Given the description of an element on the screen output the (x, y) to click on. 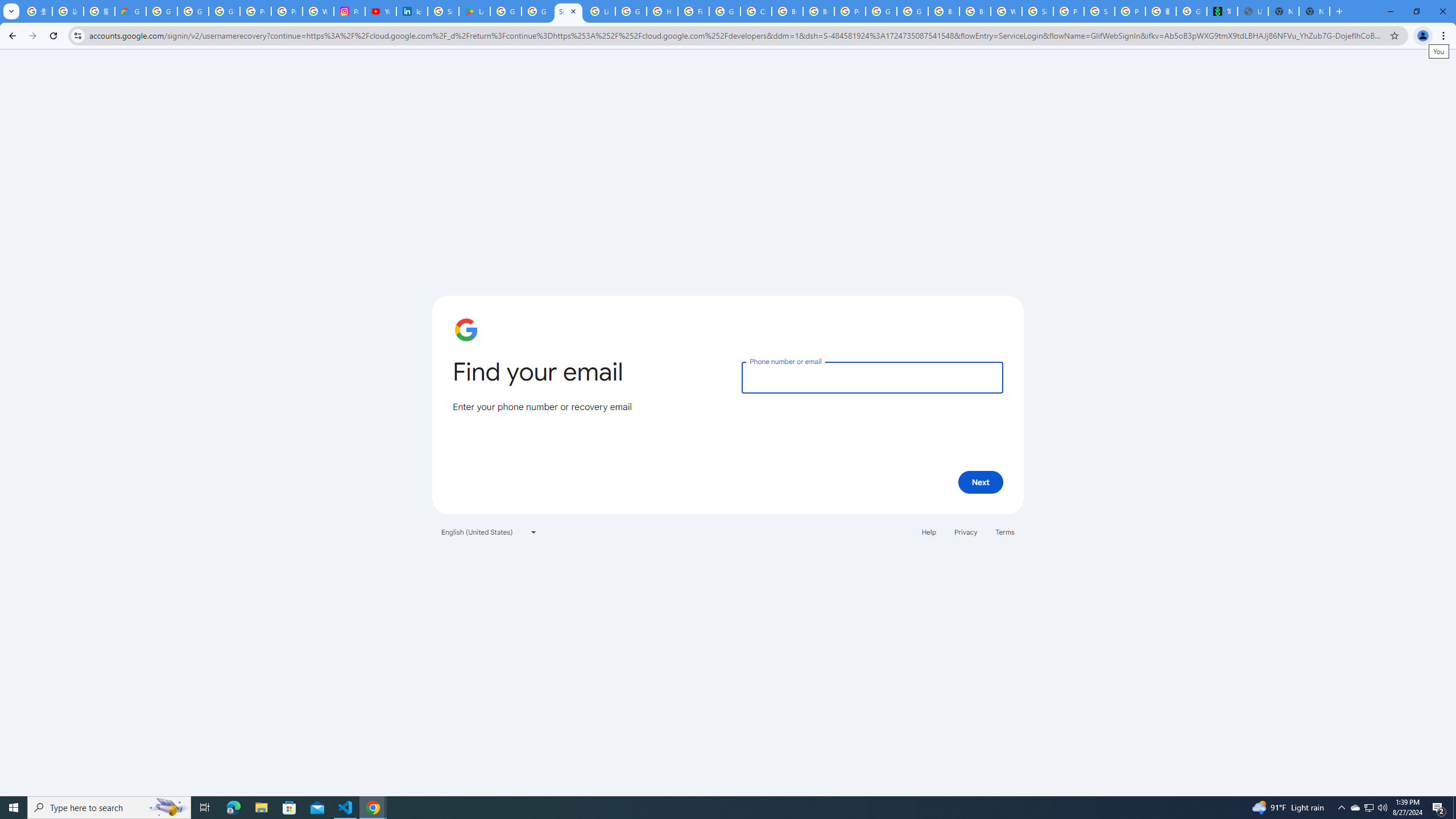
Search tabs (10, 11)
YouTube Culture & Trends - On The Rise: Handcam Videos (380, 11)
Identity verification via Persona | LinkedIn Help (411, 11)
Next (980, 481)
You (1422, 35)
New Tab (1314, 11)
Privacy (965, 531)
